Given the description of an element on the screen output the (x, y) to click on. 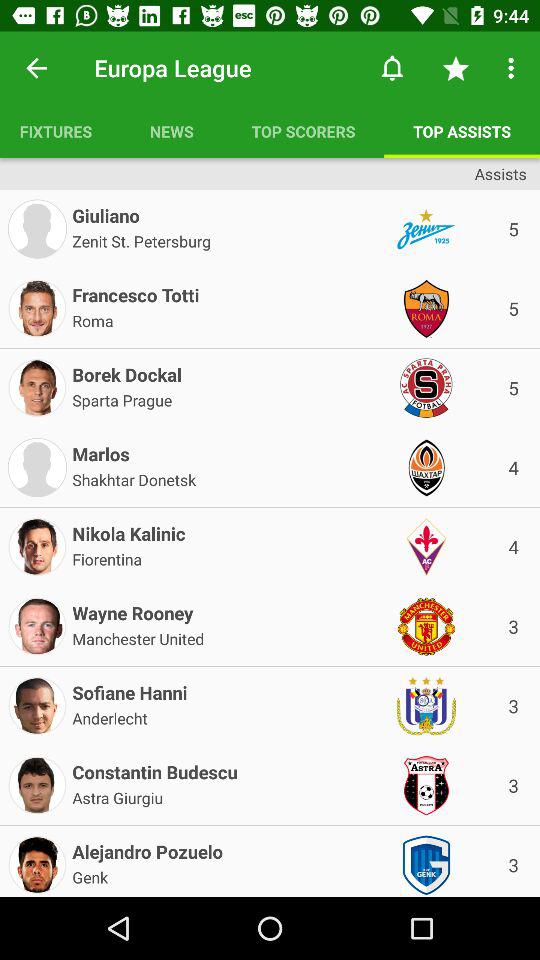
jump to borek dockal icon (126, 370)
